Given the description of an element on the screen output the (x, y) to click on. 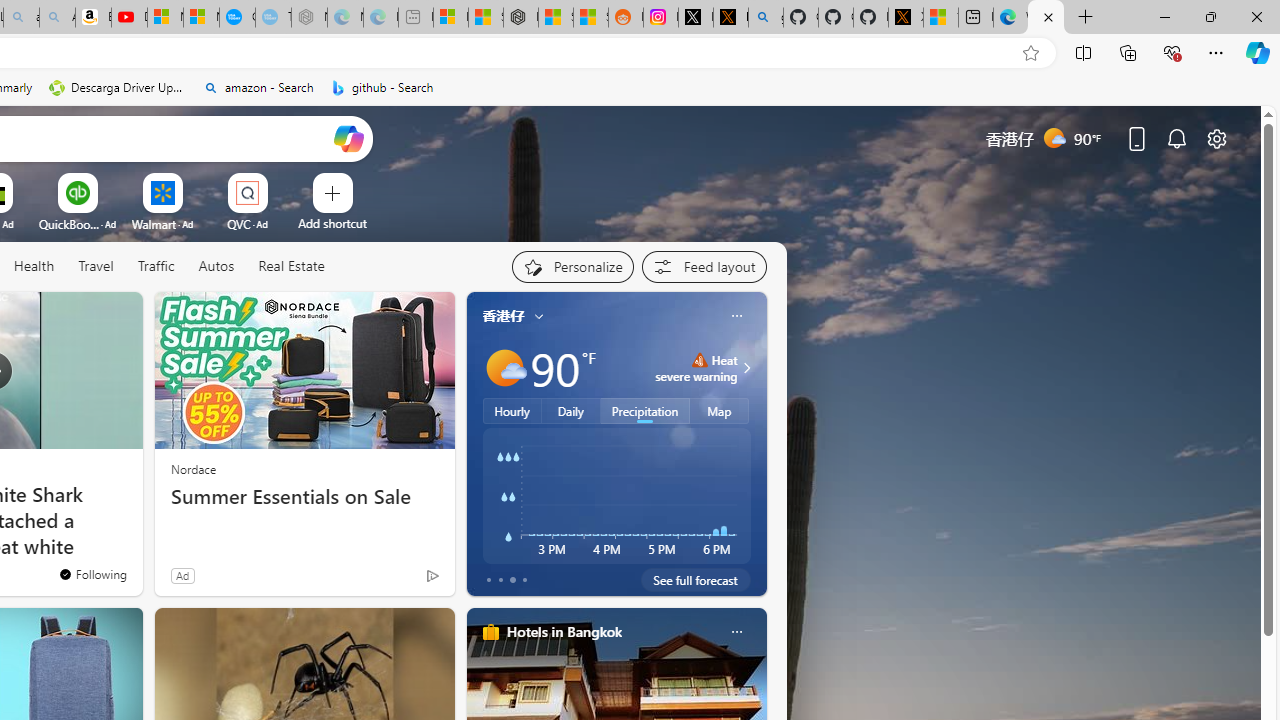
Health (33, 267)
Microsoft account | Microsoft Account Privacy Settings (450, 17)
Health (34, 265)
Autos (215, 265)
Summer Essentials on Sale (304, 497)
Hourly (511, 411)
Heat - Severe (699, 359)
Autos (216, 267)
The most popular Google 'how to' searches - Sleeping (273, 17)
Heat - Severe Heat severe warning (696, 367)
